Given the description of an element on the screen output the (x, y) to click on. 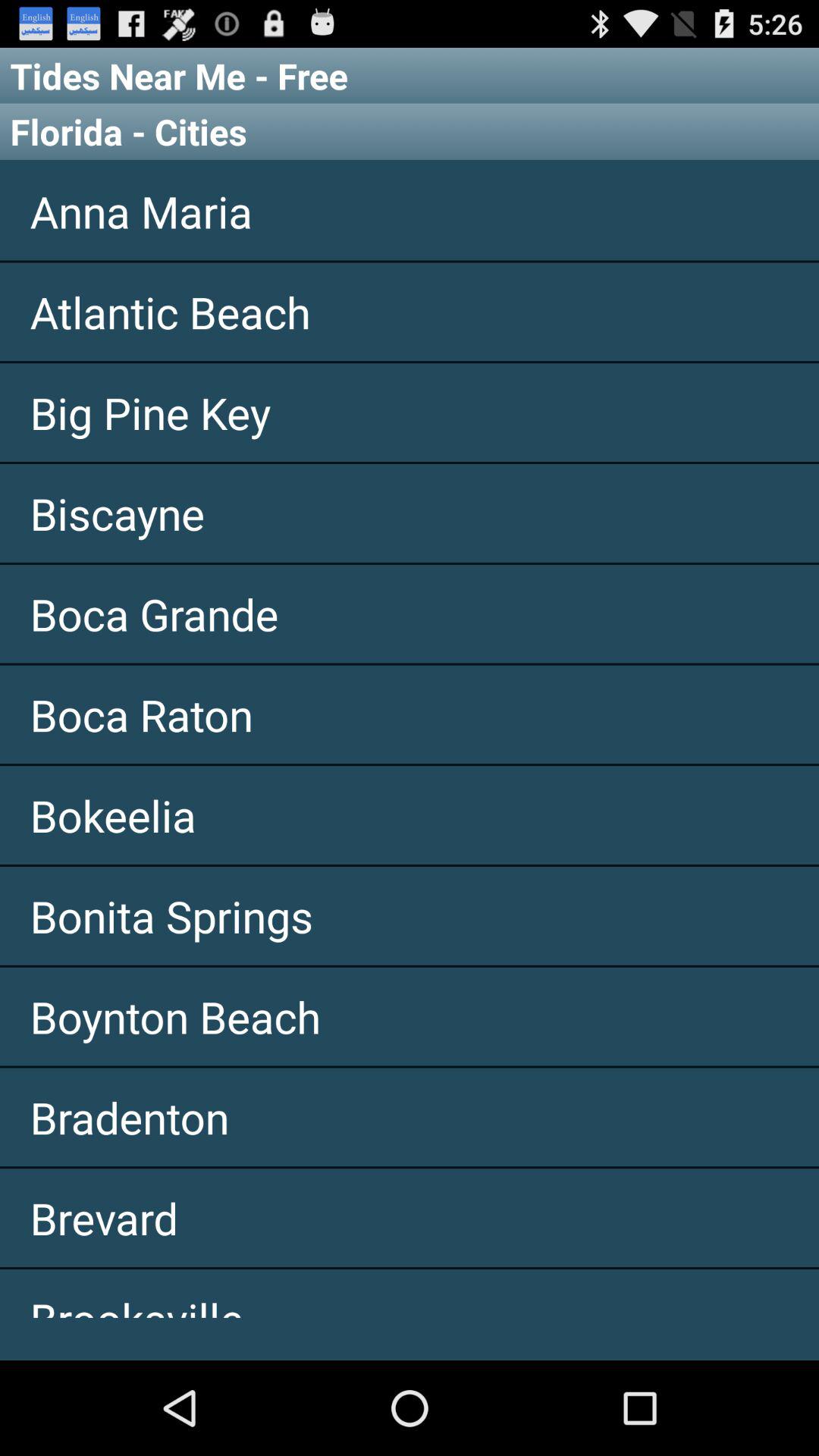
jump to the atlantic beach (409, 311)
